Given the description of an element on the screen output the (x, y) to click on. 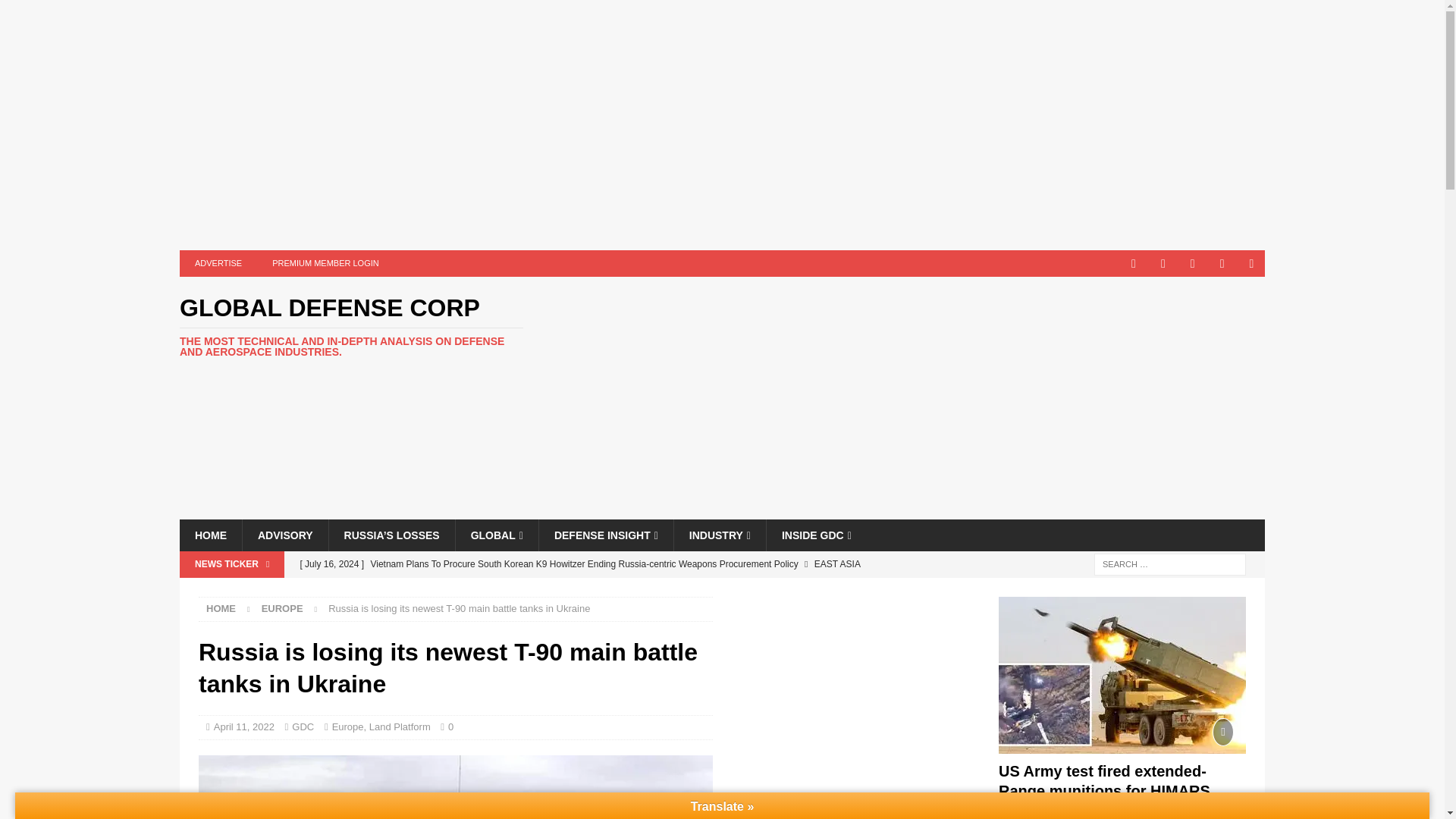
T-90 Destroyed1 (455, 787)
ADVERTISE (218, 263)
Global Defense Corp (350, 326)
PREMIUM MEMBER LOGIN (325, 263)
Europe (282, 608)
Home (220, 608)
